Given the description of an element on the screen output the (x, y) to click on. 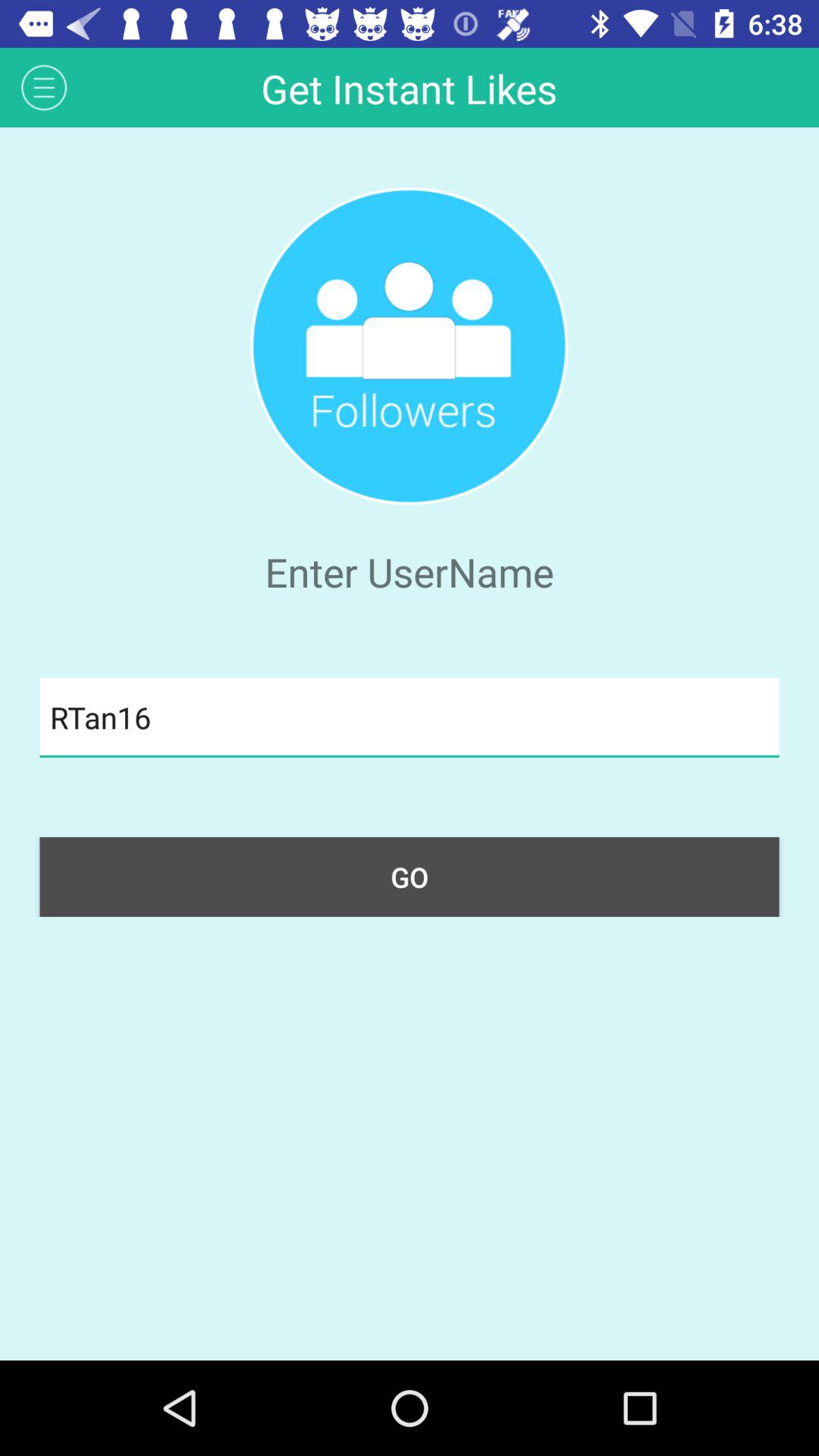
choose the item next to get instant likes item (44, 87)
